Given the description of an element on the screen output the (x, y) to click on. 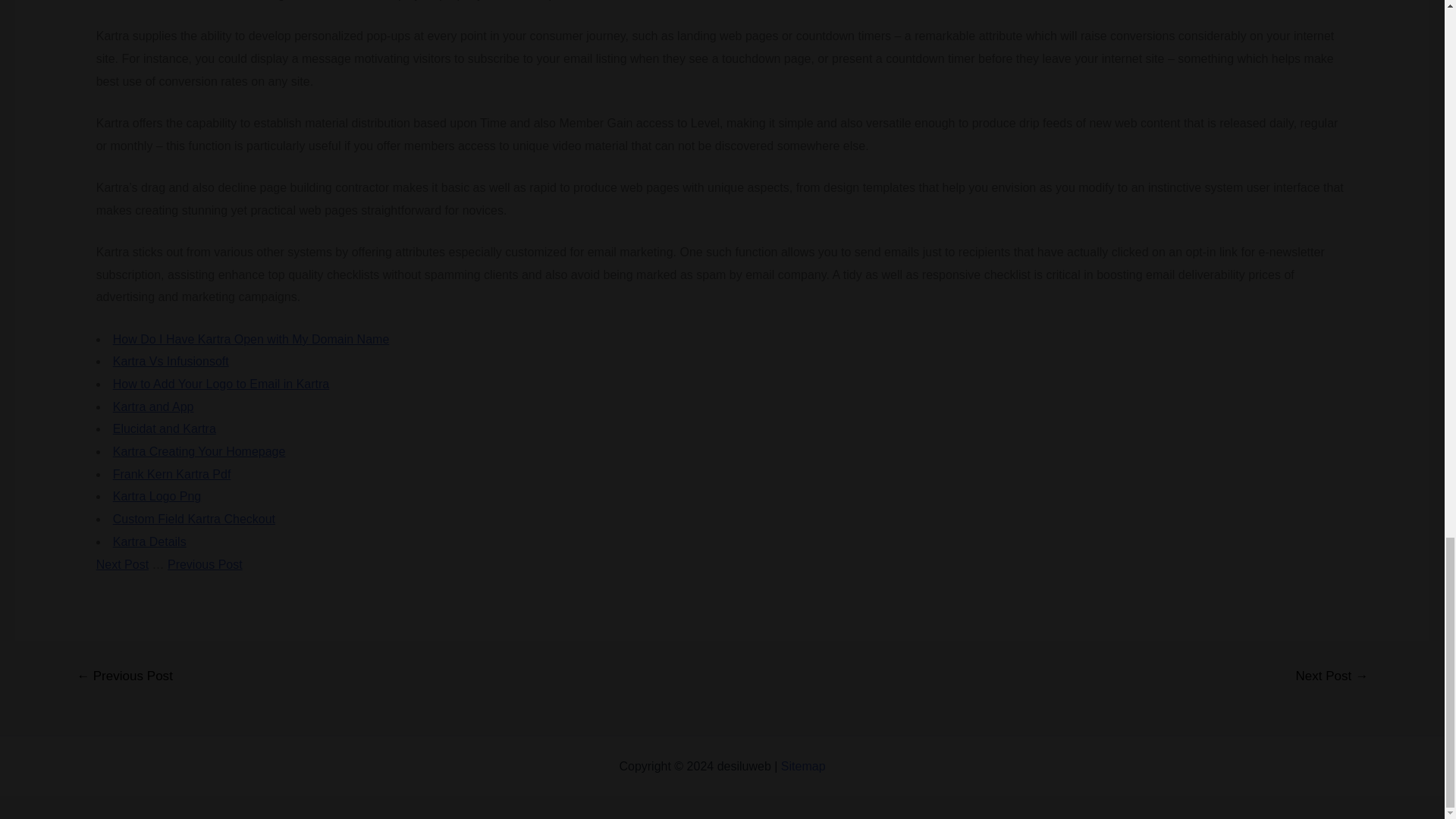
Kartra Logo Png (157, 495)
Custom Field Kartra Checkout (194, 518)
Kartra Creating Your Homepage (199, 451)
How Do I Have Kartra Open with My Domain Name (251, 338)
How Do I Have Kartra Open with My Domain Name (251, 338)
Elucidat and Kartra (164, 428)
Custom Field Kartra Checkout (194, 518)
Kartra Vs Infusionsoft (170, 360)
Next Post (122, 563)
Kartra Vs Infusionsoft (170, 360)
